Given the description of an element on the screen output the (x, y) to click on. 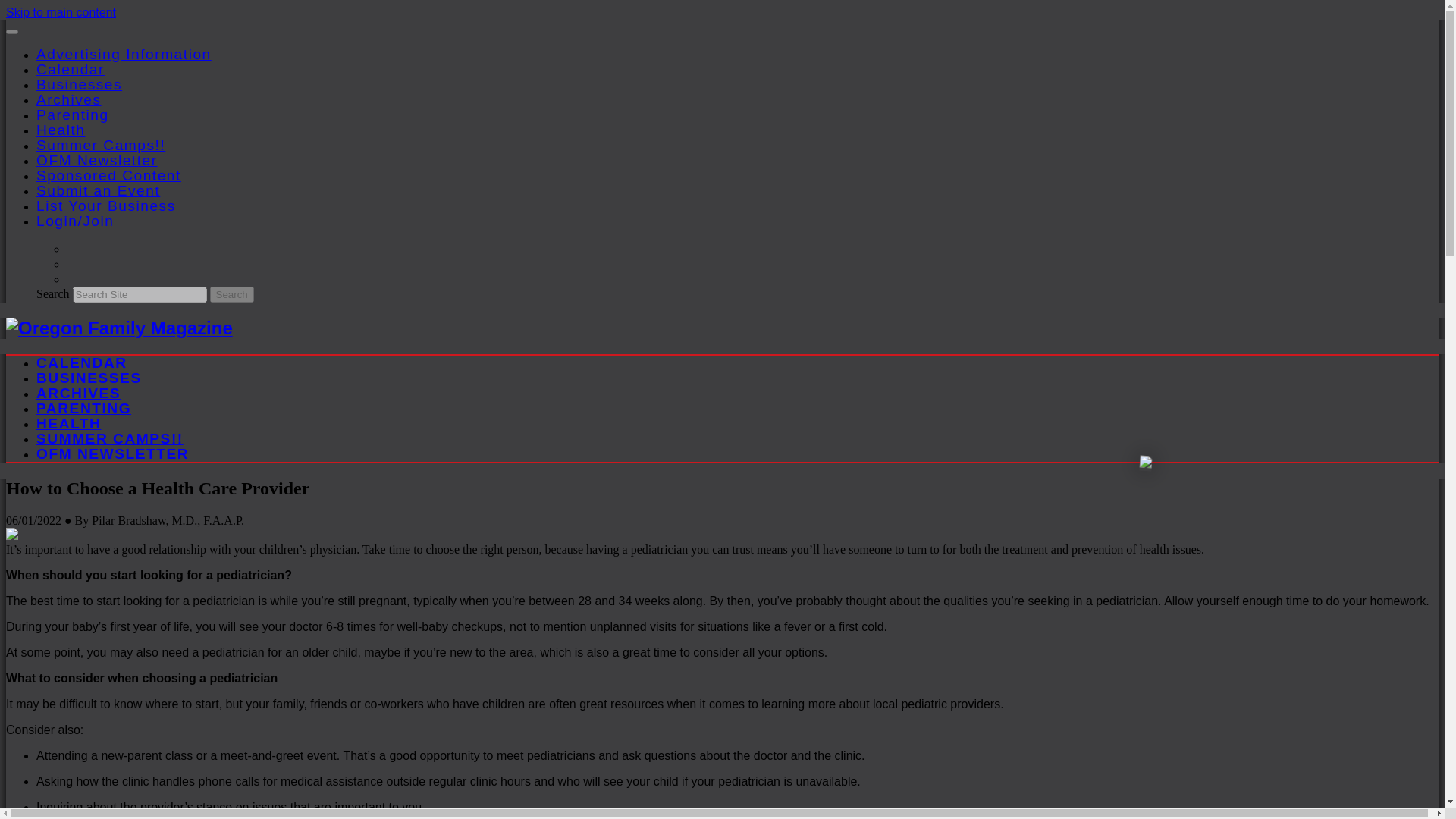
ARCHIVES (78, 392)
Health (60, 130)
BUSINESSES (88, 377)
HEALTH (68, 423)
PARENTING (83, 408)
Parenting (72, 114)
Search (231, 294)
SUMMER CAMPS!! (109, 438)
Businesses (79, 84)
Archives (68, 99)
List Your Business (106, 205)
Calendar (70, 68)
Sponsored Content (108, 175)
OFM NEWSLETTER (112, 453)
OFM Newsletter (96, 160)
